Given the description of an element on the screen output the (x, y) to click on. 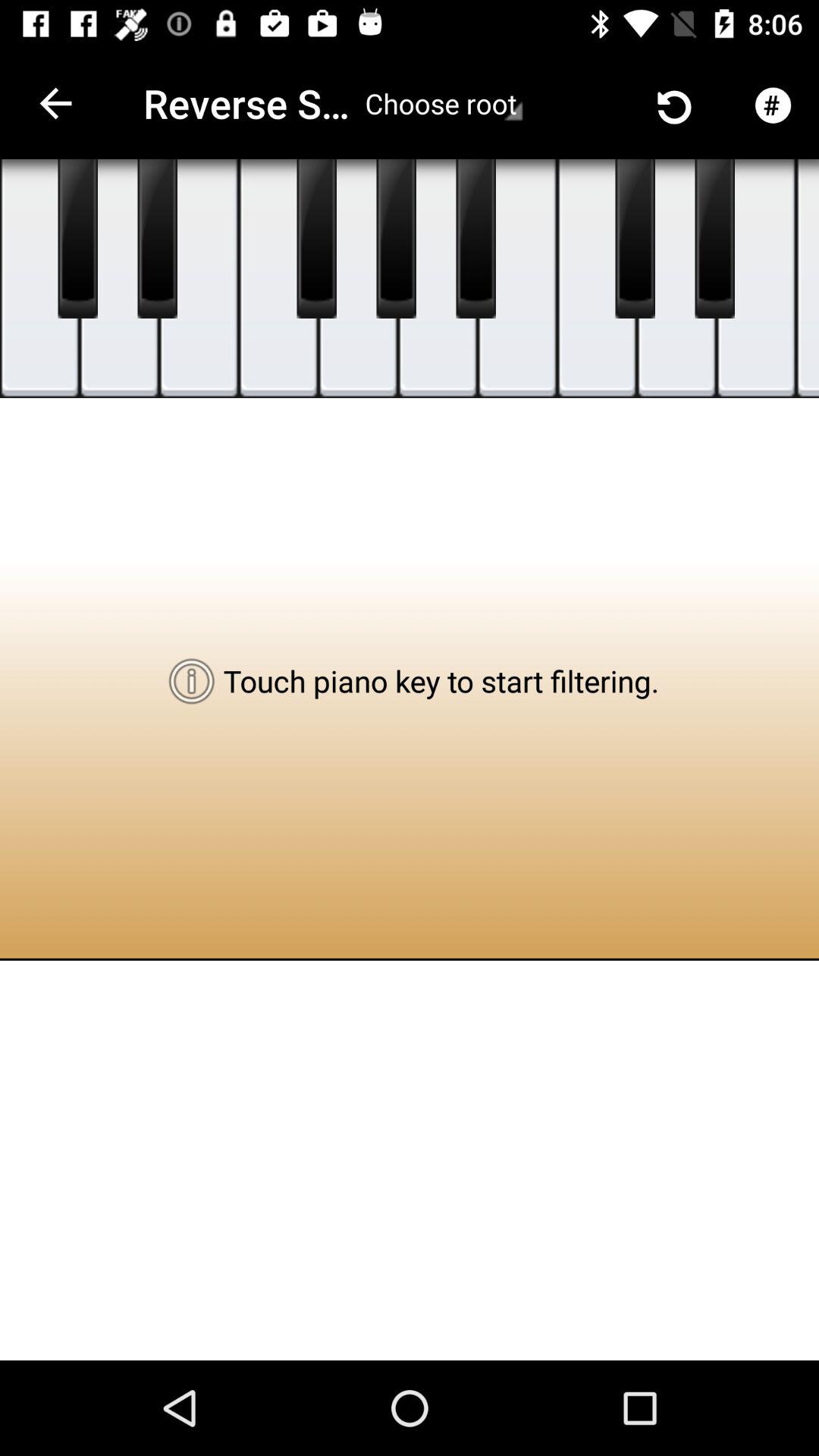
open piano key information (676, 278)
